Given the description of an element on the screen output the (x, y) to click on. 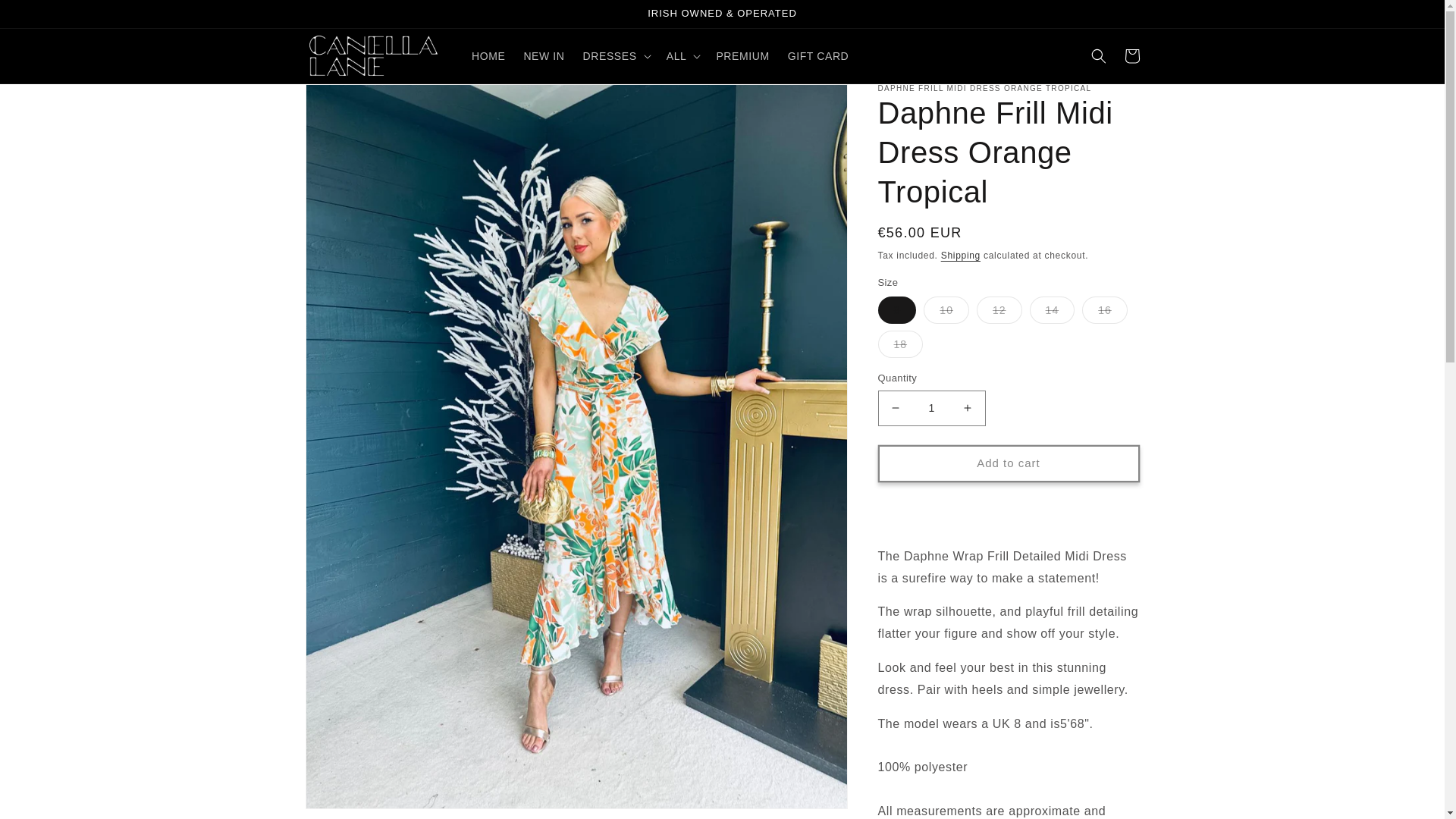
Skip to content (46, 18)
1 (931, 407)
NEW IN (543, 56)
HOME (488, 56)
